Given the description of an element on the screen output the (x, y) to click on. 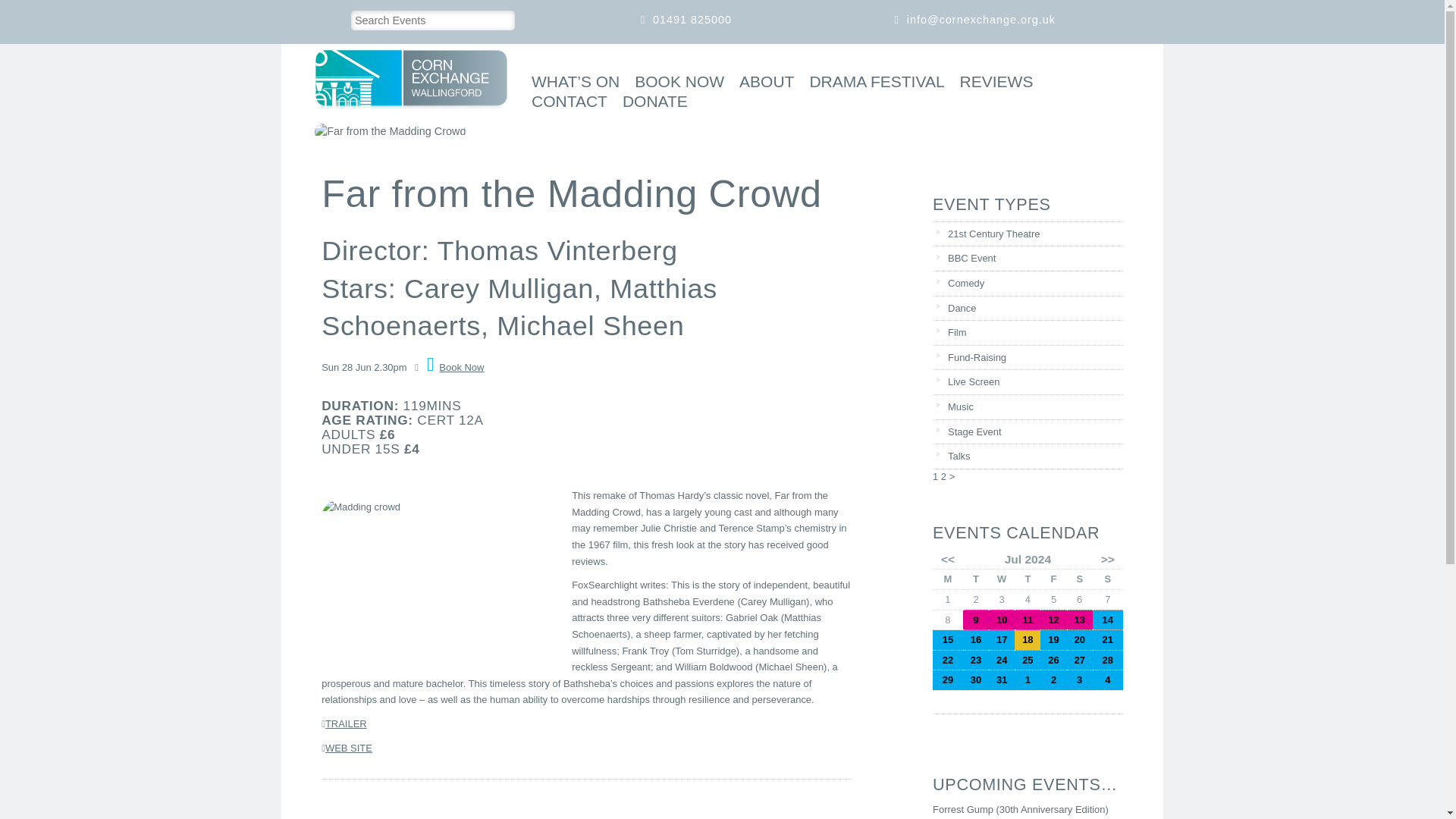
ABOUT (762, 83)
BOOK NOW (675, 83)
REVIEWS (992, 83)
whats on at the Corn Exchange Wallingford (571, 83)
DRAMA FESTIVAL (872, 83)
Measure for Measure by William Shakespeare (1001, 619)
Book Now (455, 367)
CONTACT (565, 103)
Measure for Measure by William Shakespeare (1053, 619)
Measure for Measure by William Shakespeare (1027, 619)
web site (348, 747)
Madding Crowd (345, 723)
BANNER TITLE test (389, 131)
DONATE (651, 103)
